Given the description of an element on the screen output the (x, y) to click on. 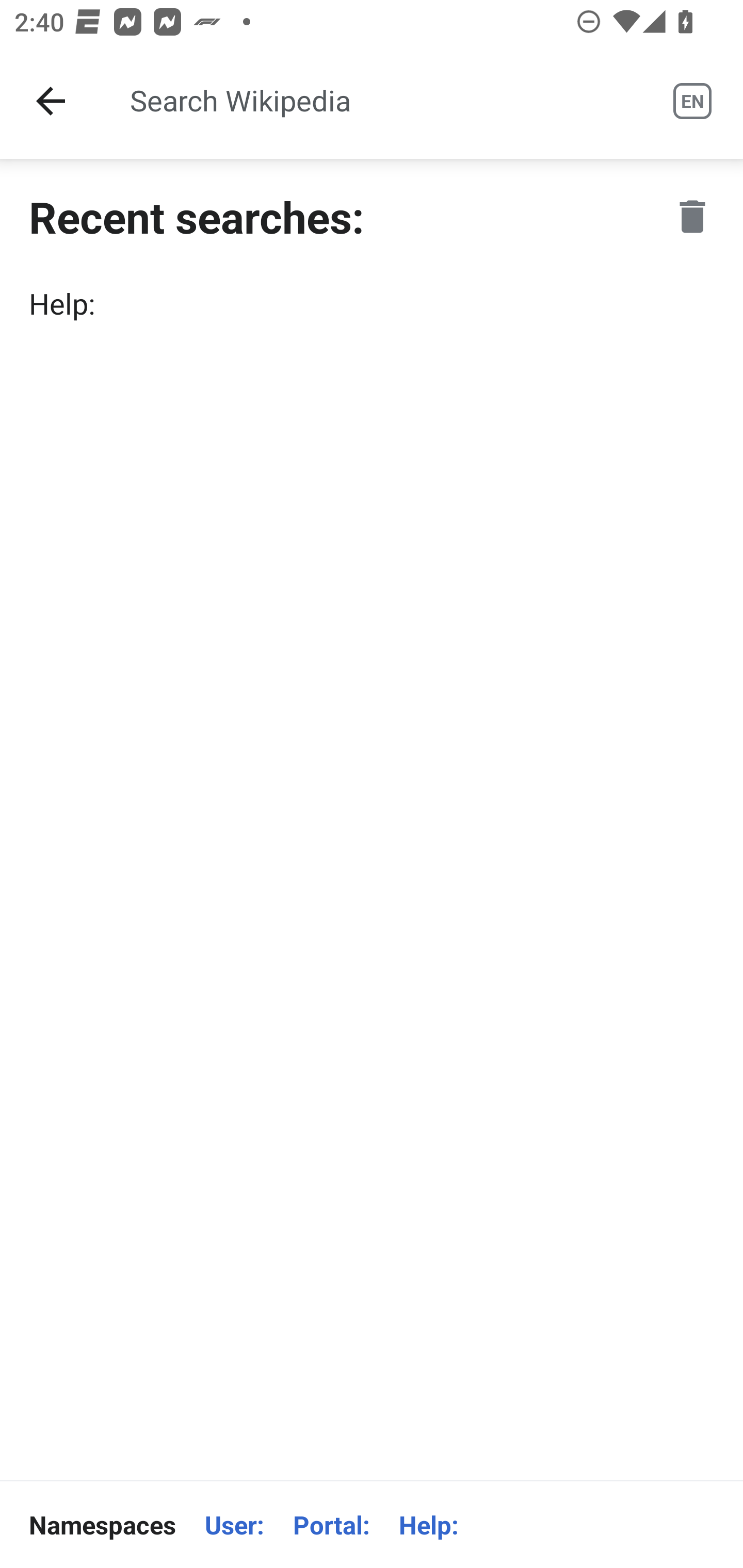
Navigate up (50, 101)
Search Wikipedia (372, 100)
Wikipedia languages EN (692, 100)
Clear history (692, 216)
Help: (371, 303)
Namespaces (102, 1524)
User: (234, 1524)
Portal: (331, 1524)
Help: (428, 1524)
